Given the description of an element on the screen output the (x, y) to click on. 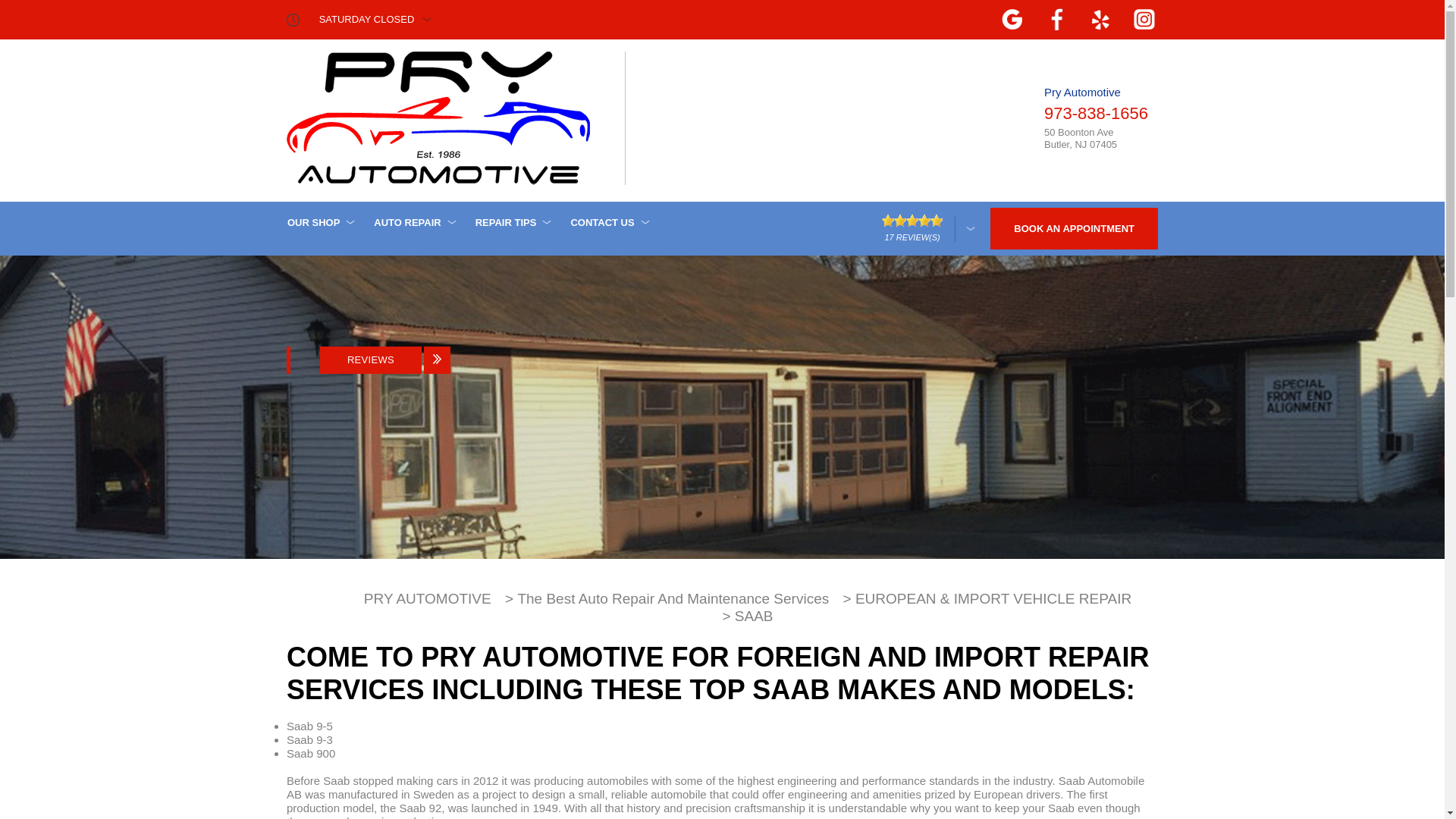
Click here to review more (928, 228)
CONTACT US (607, 222)
AUTO REPAIR (412, 222)
SATURDAY CLOSED (375, 19)
REPAIR TIPS (511, 222)
OUR SHOP (319, 222)
973-838-1656 (1095, 113)
